Given the description of an element on the screen output the (x, y) to click on. 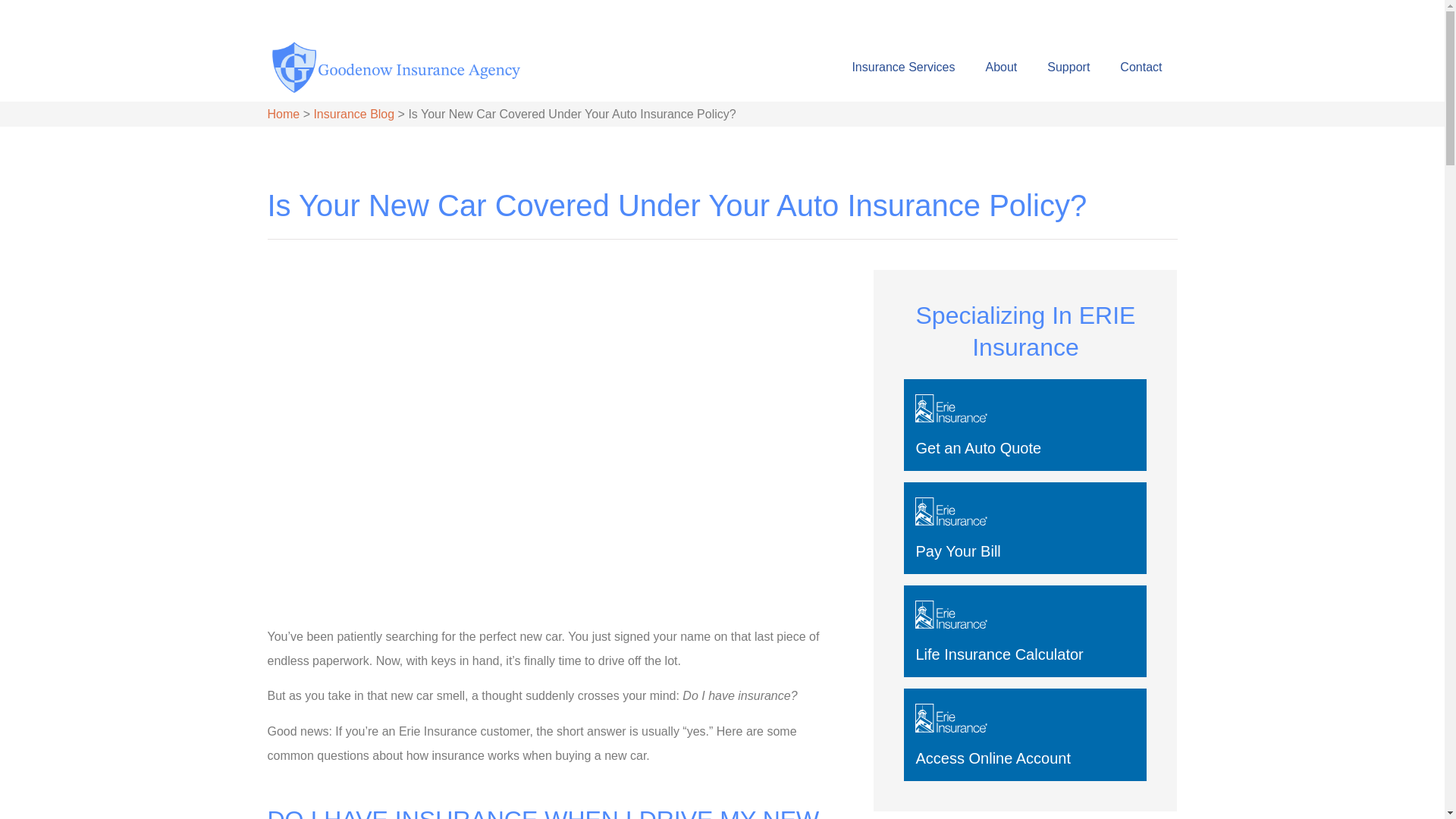
goodenow-logo (392, 67)
About (1000, 67)
Insurance Services (902, 67)
